Given the description of an element on the screen output the (x, y) to click on. 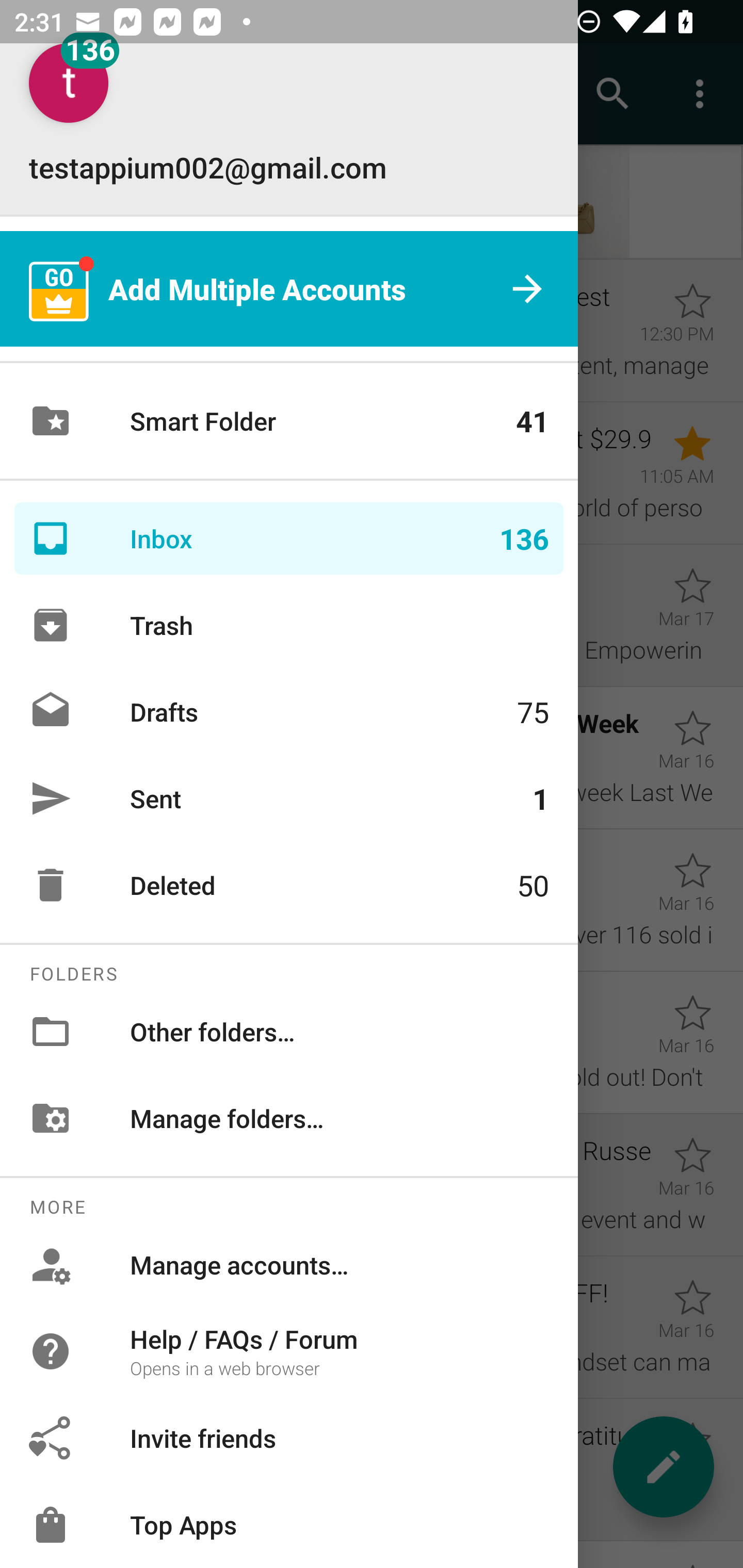
testappium002@gmail.com (289, 114)
Add Multiple Accounts (289, 288)
Smart Folder 41 (289, 420)
Inbox 136 (289, 538)
Trash (289, 624)
Drafts 75 (289, 711)
Sent 1 (289, 798)
Deleted 50 (289, 885)
Other folders… (289, 1031)
Manage folders… (289, 1118)
Manage accounts… (289, 1264)
Help / FAQs / Forum Opens in a web browser (289, 1350)
Invite friends (289, 1437)
Top Apps (289, 1524)
